Given the description of an element on the screen output the (x, y) to click on. 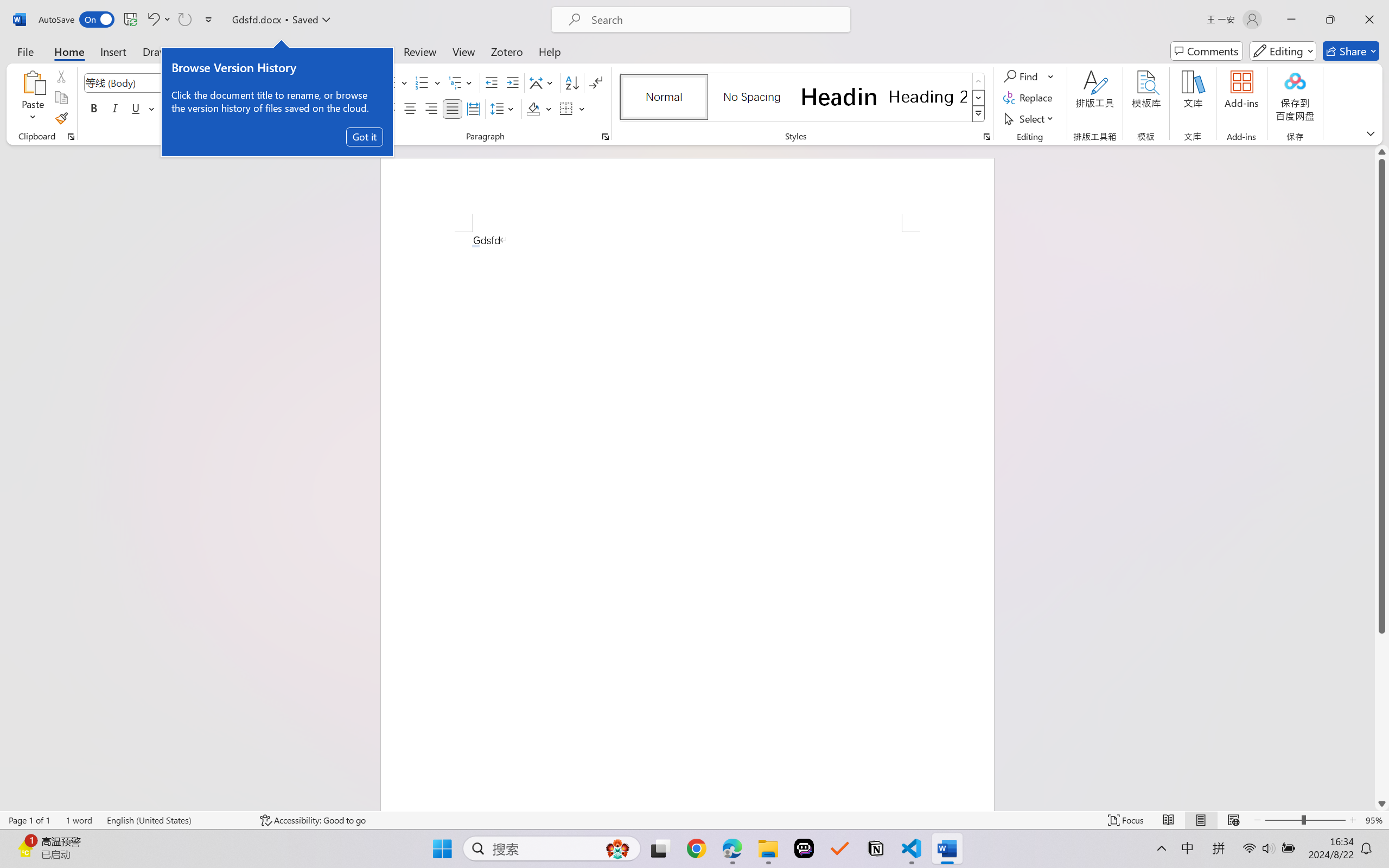
Open (215, 82)
Format Painter (60, 118)
Line up (1382, 151)
Row up (978, 81)
Strikethrough (169, 108)
Office Clipboard... (70, 136)
